Given the description of an element on the screen output the (x, y) to click on. 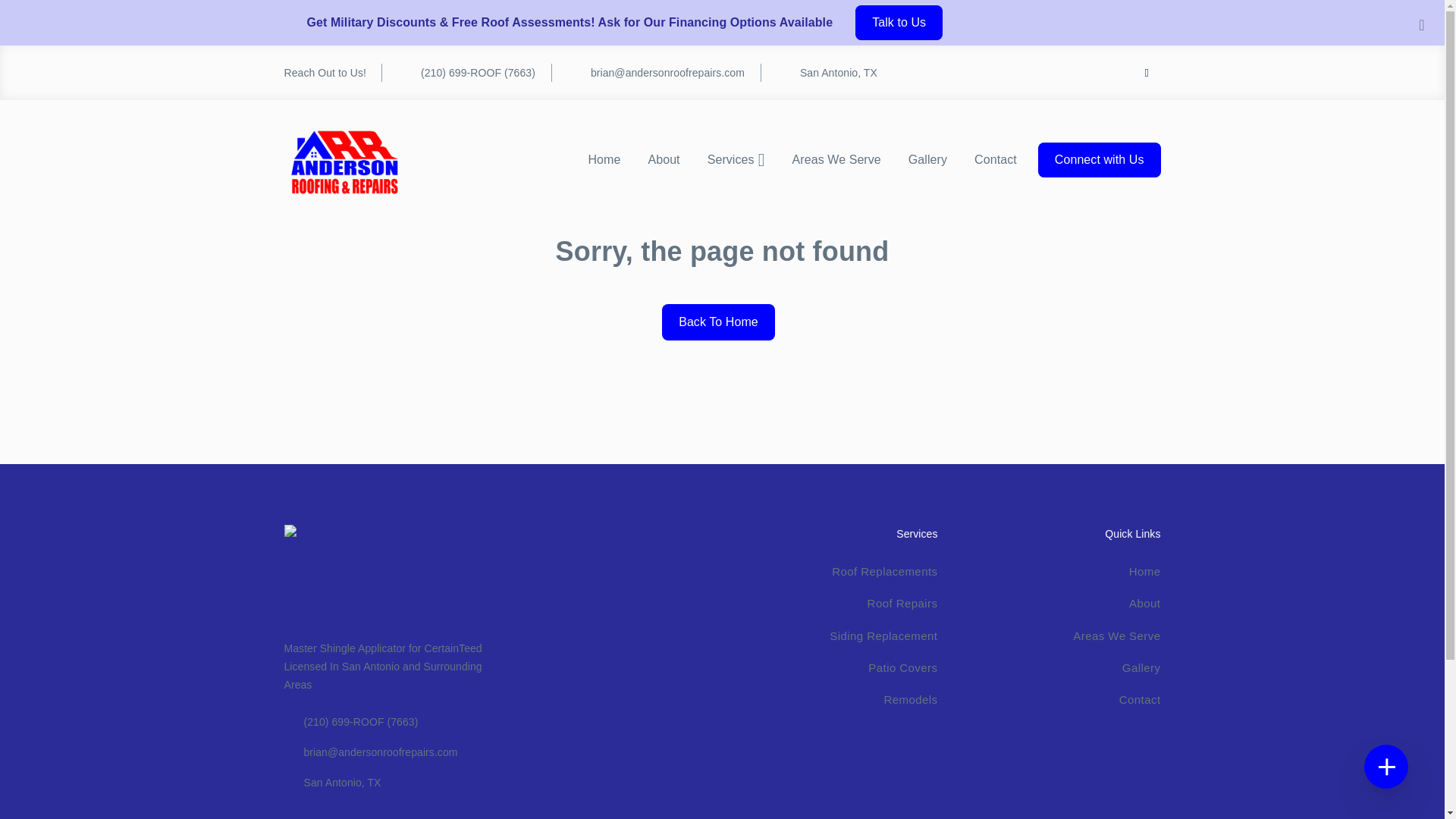
Roof Replacements (884, 571)
Home (1144, 571)
Patio Covers (902, 667)
San Antonio, TX (818, 72)
Remodels (910, 698)
San Antonio, TX (388, 782)
Contact (995, 160)
About (663, 160)
Areas We Serve (836, 160)
Gallery (927, 160)
About (1144, 603)
Siding Replacement (883, 635)
Talk to Us (899, 22)
Home (603, 160)
Roof Repairs (902, 603)
